Given the description of an element on the screen output the (x, y) to click on. 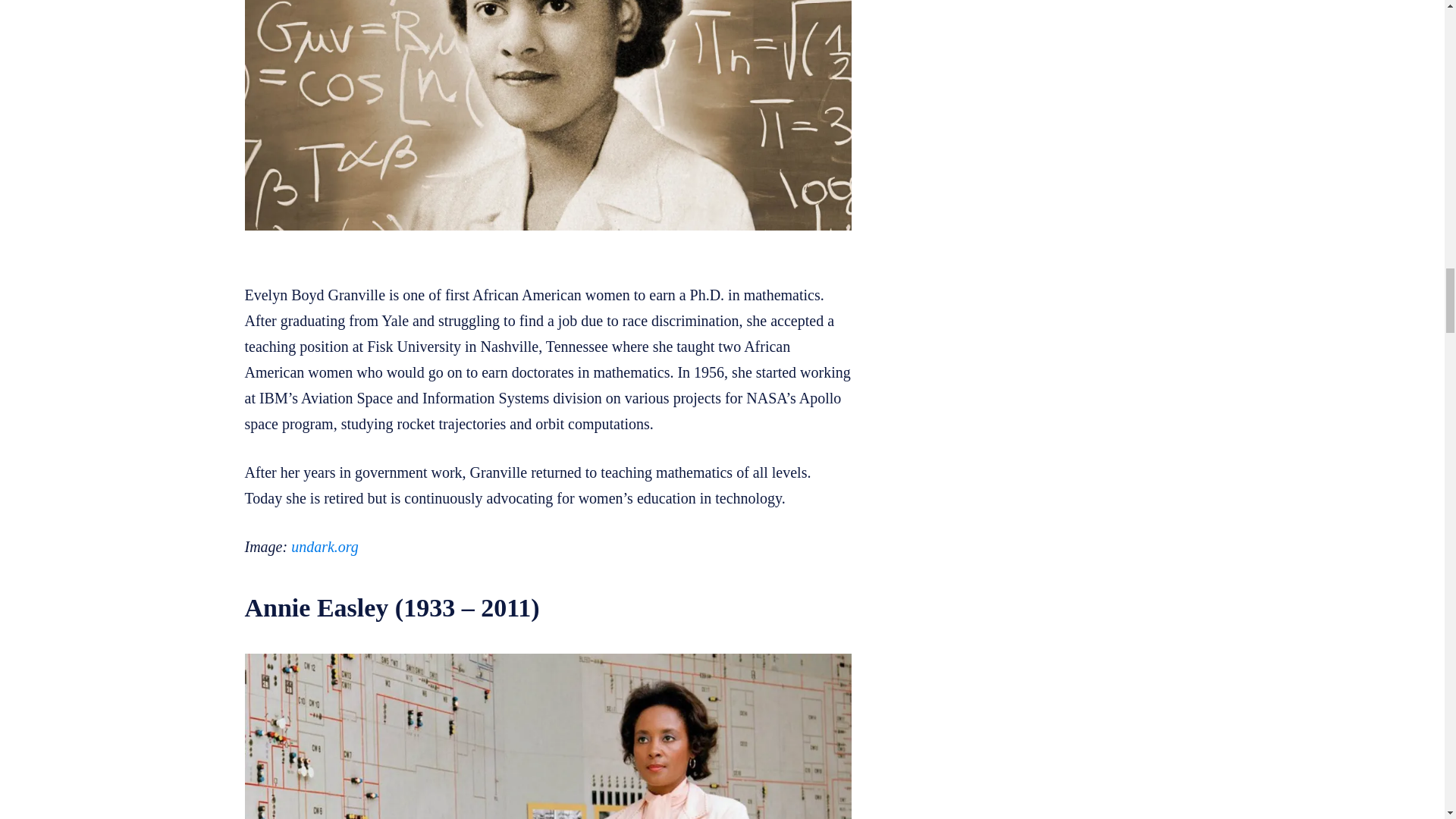
undark.org (324, 546)
